Given the description of an element on the screen output the (x, y) to click on. 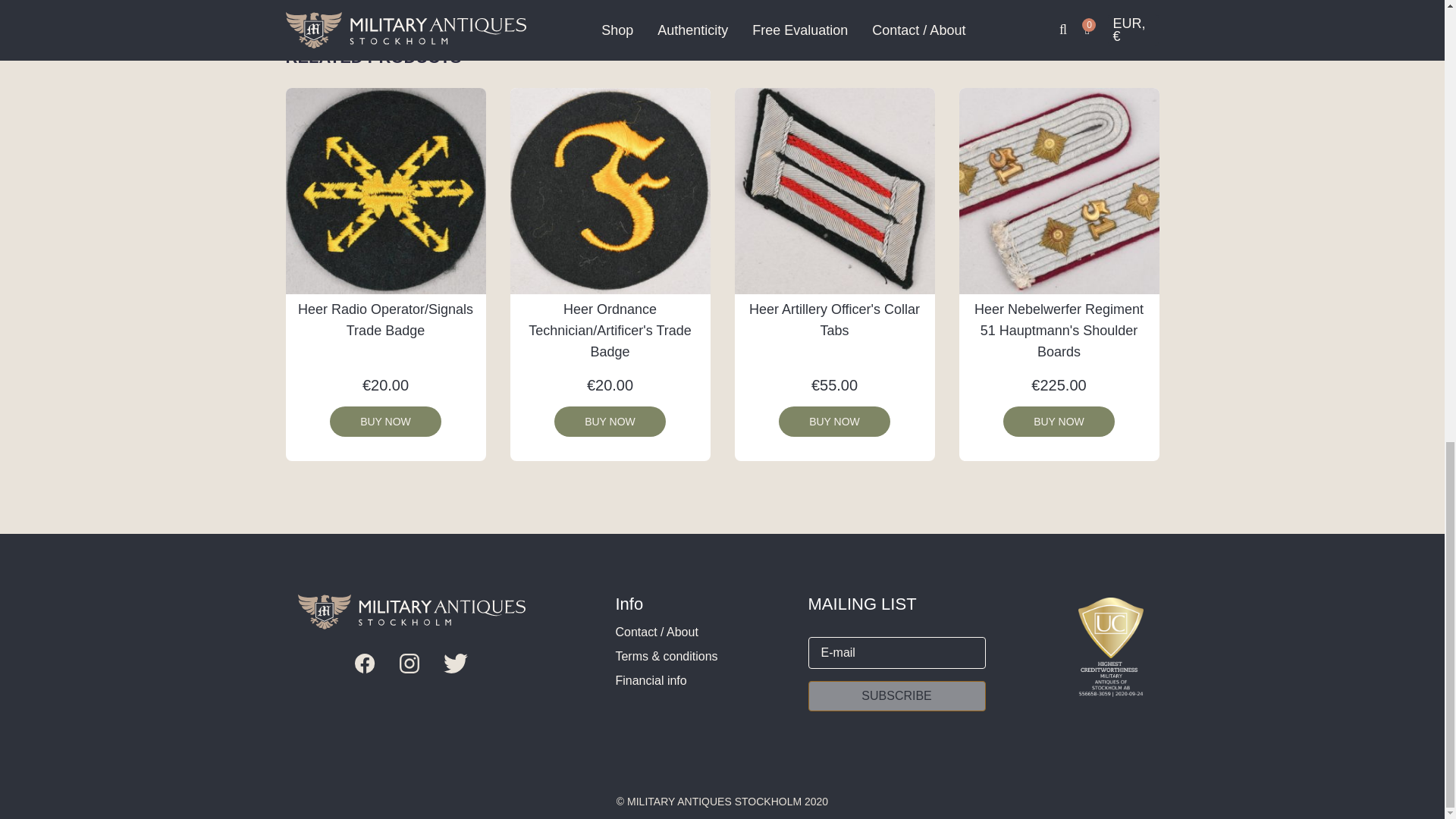
BUY NOW (385, 421)
Subscribe (896, 695)
